Given the description of an element on the screen output the (x, y) to click on. 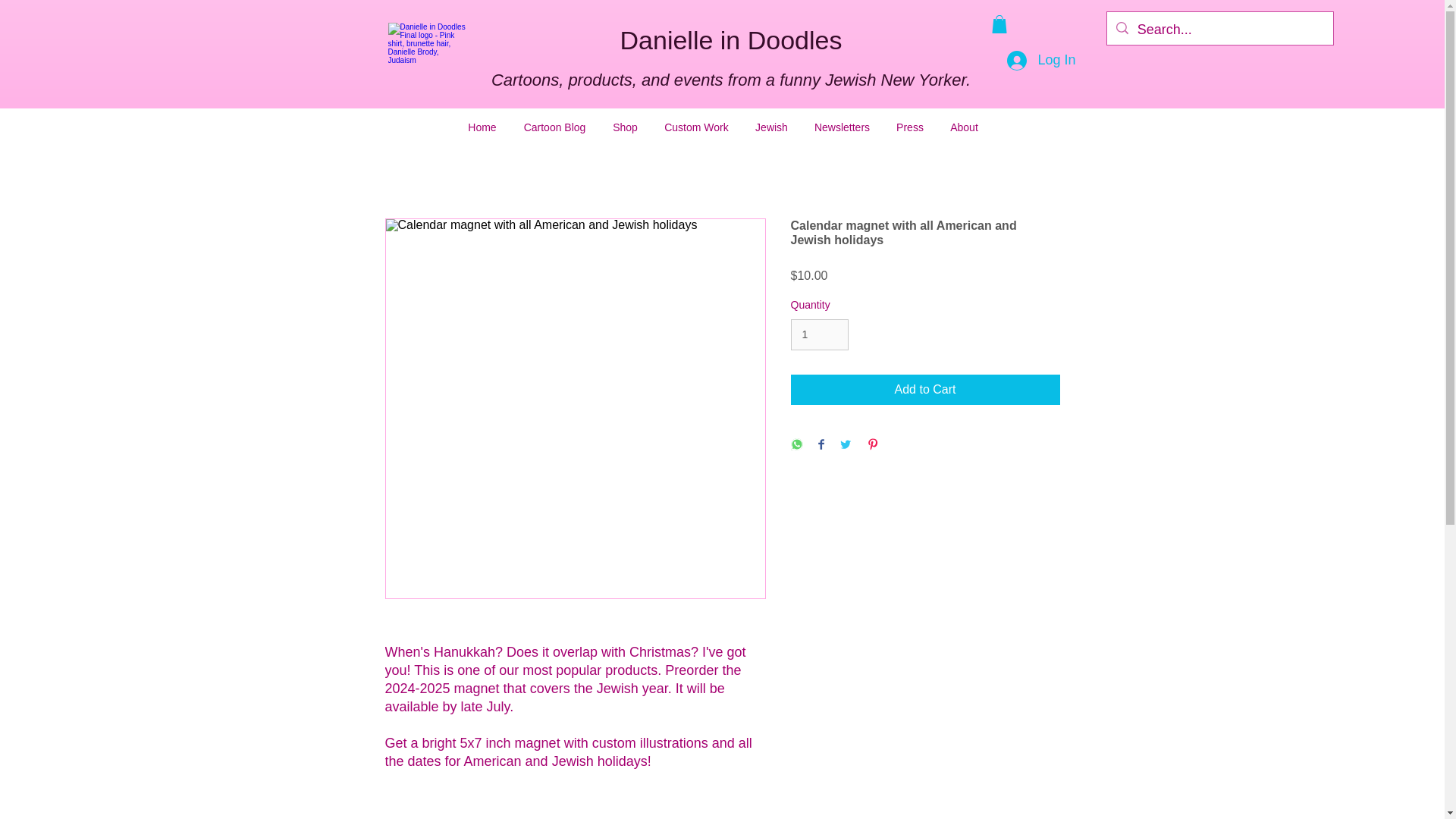
Home (482, 127)
Log In (1040, 60)
Add to Cart (924, 389)
Cartoon Blog (553, 127)
Shop (624, 127)
Press (909, 127)
About (964, 127)
Jewish (770, 127)
1 (818, 334)
Newsletters (841, 127)
Custom Work (695, 127)
